Given the description of an element on the screen output the (x, y) to click on. 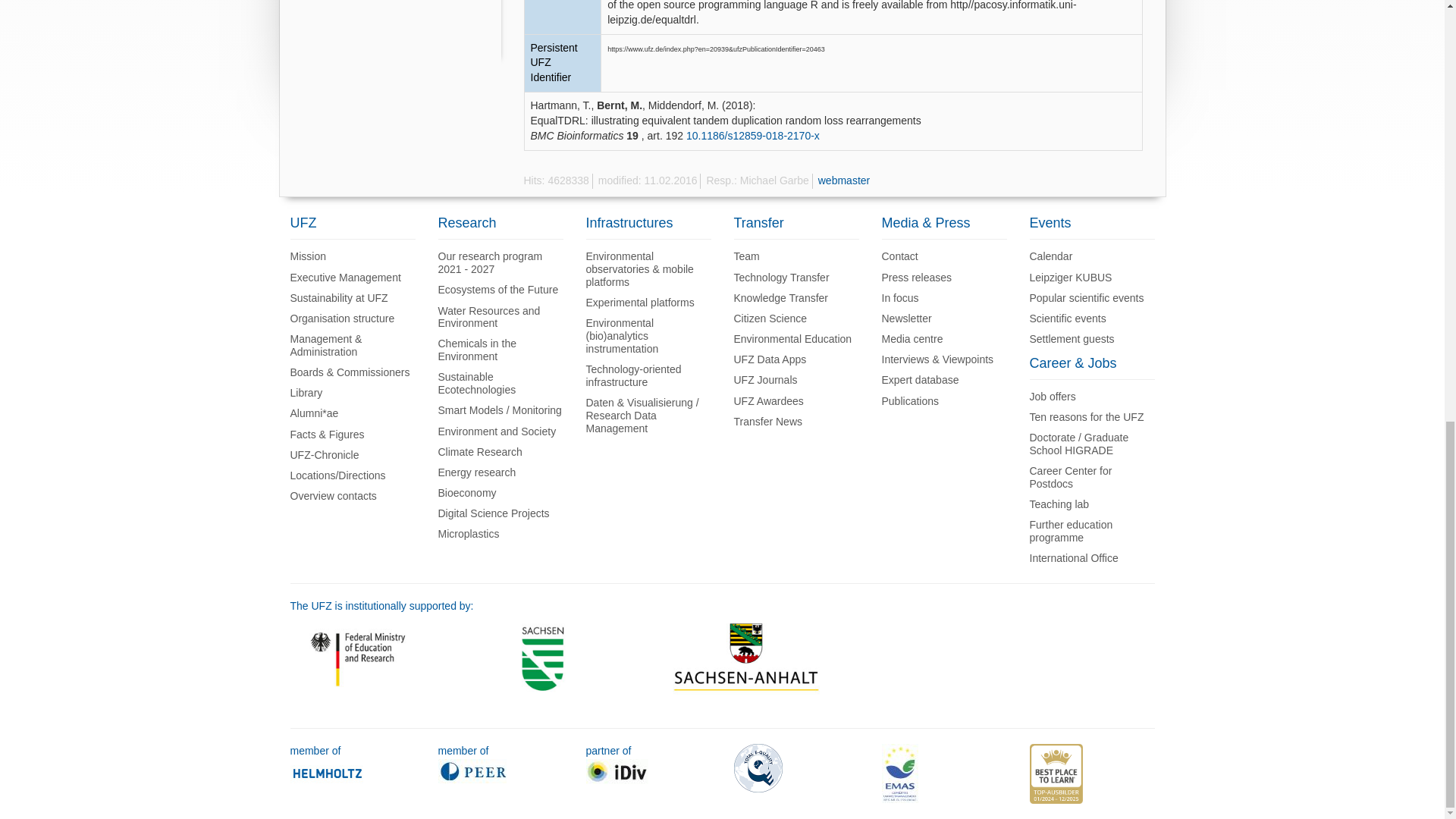
Registered with EMAS (915, 719)
